Given the description of an element on the screen output the (x, y) to click on. 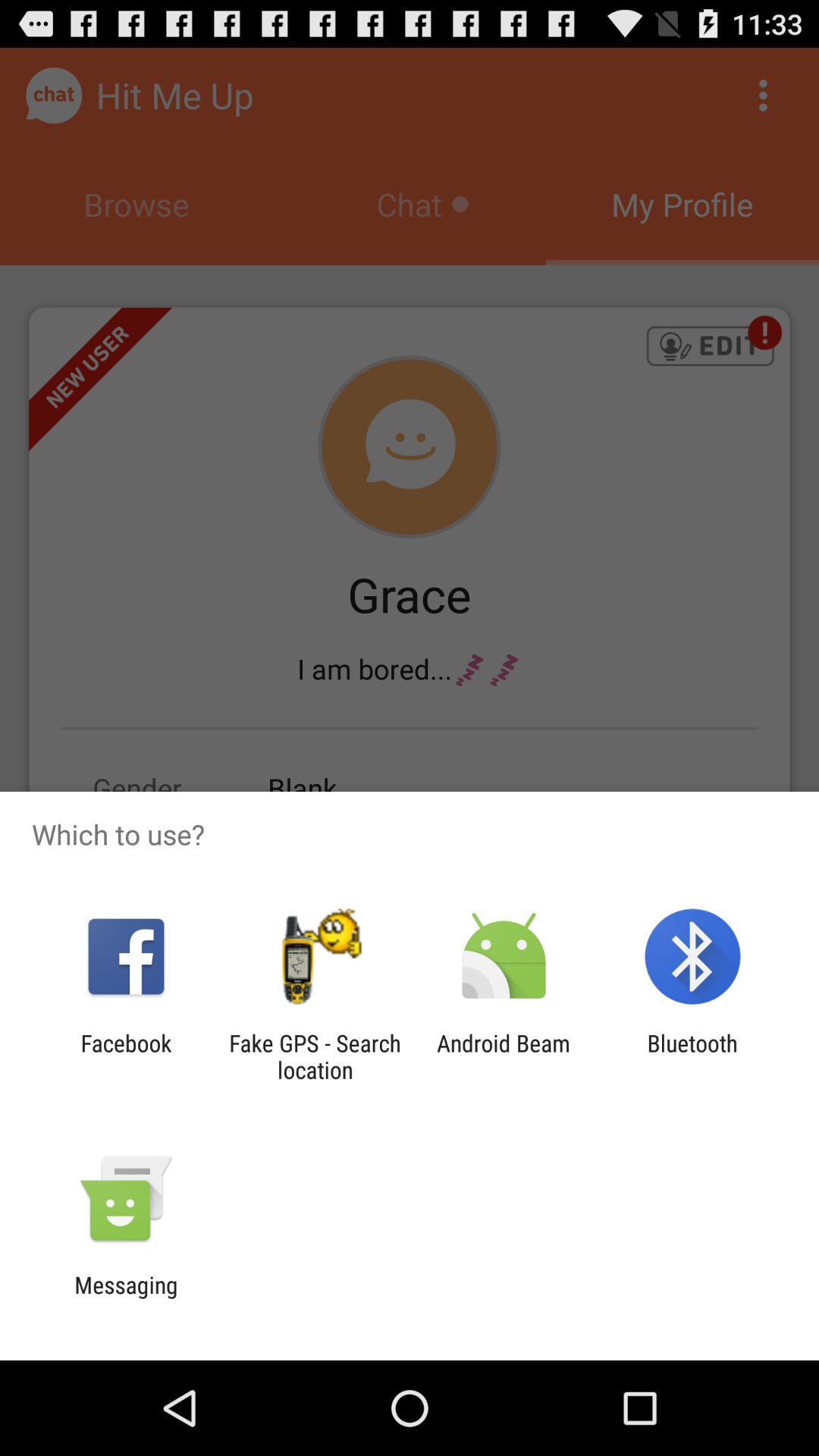
choose the item next to the android beam app (692, 1056)
